Given the description of an element on the screen output the (x, y) to click on. 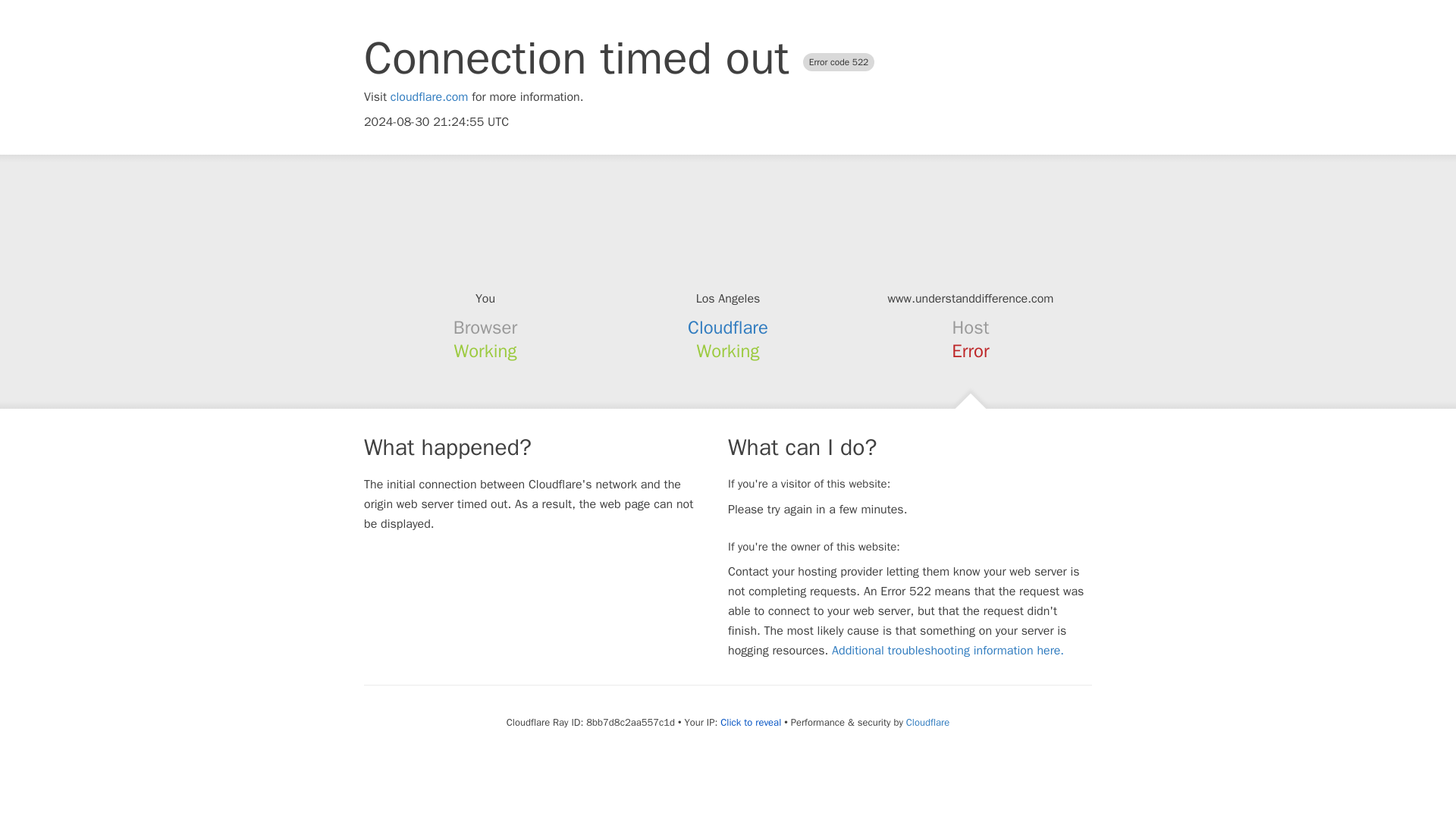
Cloudflare (927, 721)
Cloudflare (727, 327)
Click to reveal (750, 722)
cloudflare.com (429, 96)
Additional troubleshooting information here. (947, 650)
